Given the description of an element on the screen output the (x, y) to click on. 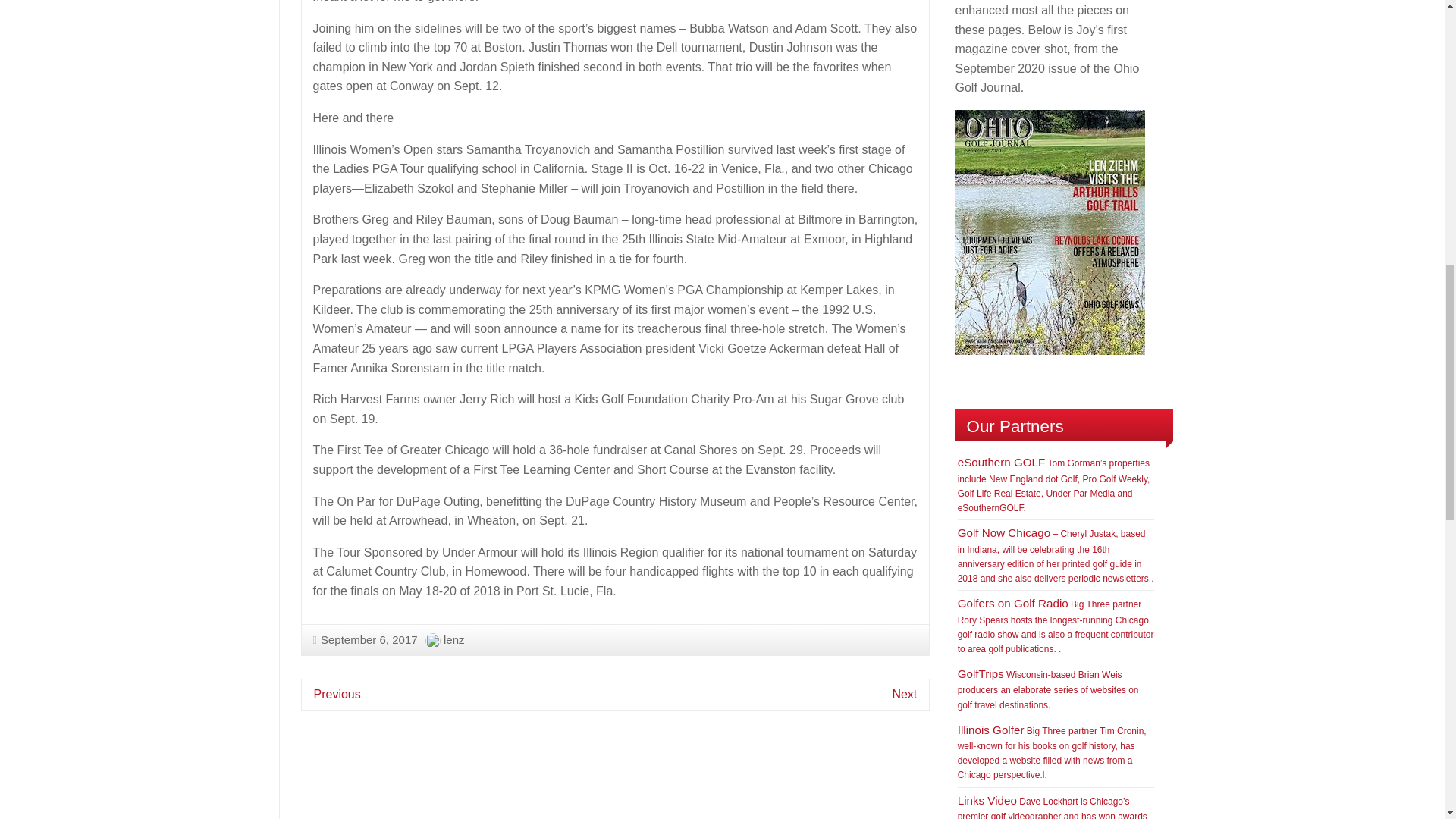
Next (904, 694)
lenz (454, 639)
eSouthern GOLF (1001, 461)
September 6, 2017 (364, 639)
GolfTrips (981, 673)
Golfers on Golf Radio (1013, 603)
Links Video (987, 799)
Golf Now Chicago (1003, 532)
Illinois Golfer (991, 729)
Previous (337, 694)
